Given the description of an element on the screen output the (x, y) to click on. 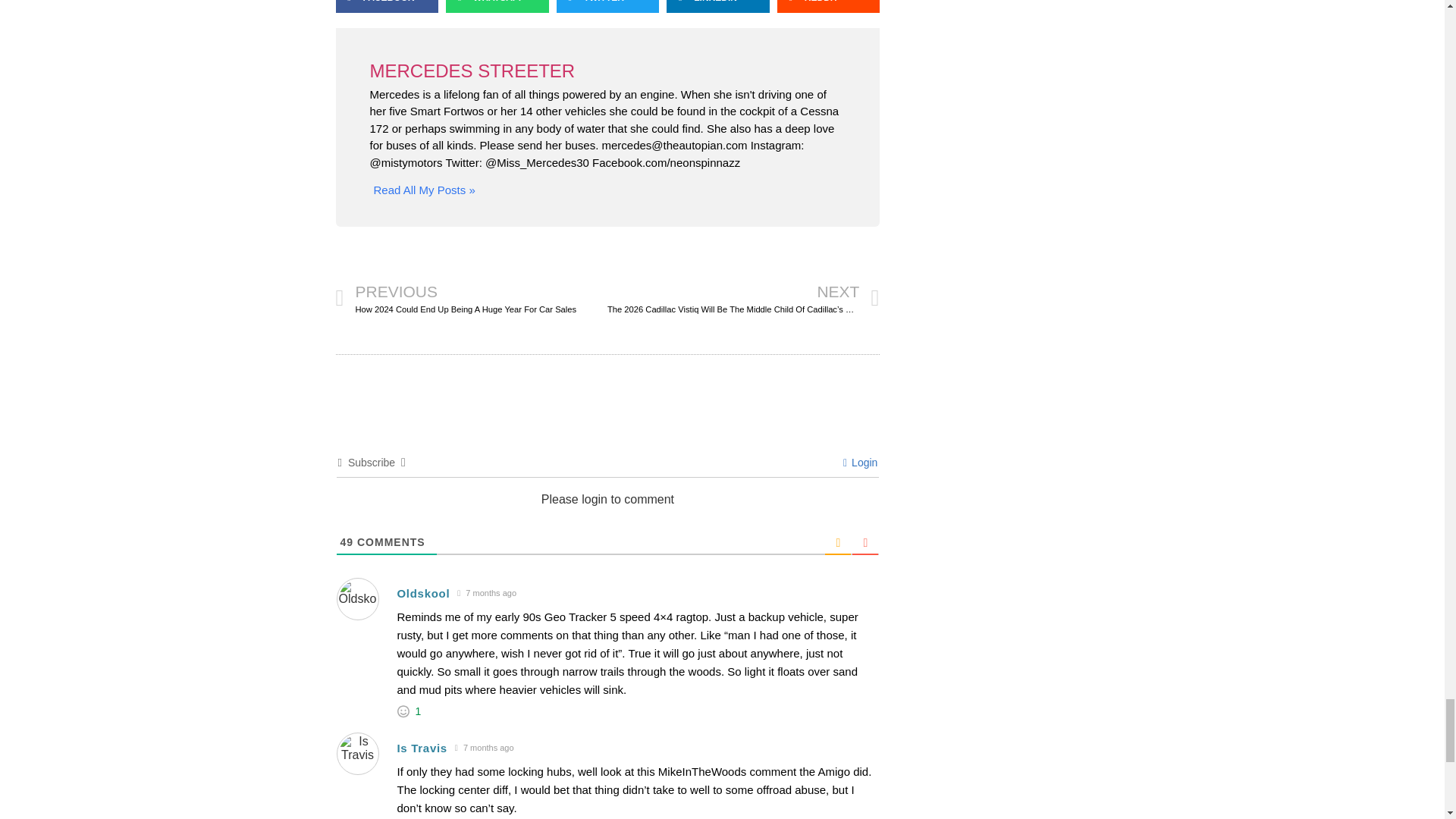
49 (346, 541)
December 16, 2023 12:04 pm (485, 593)
1 (418, 711)
December 15, 2023 10:11 pm (484, 748)
